Given the description of an element on the screen output the (x, y) to click on. 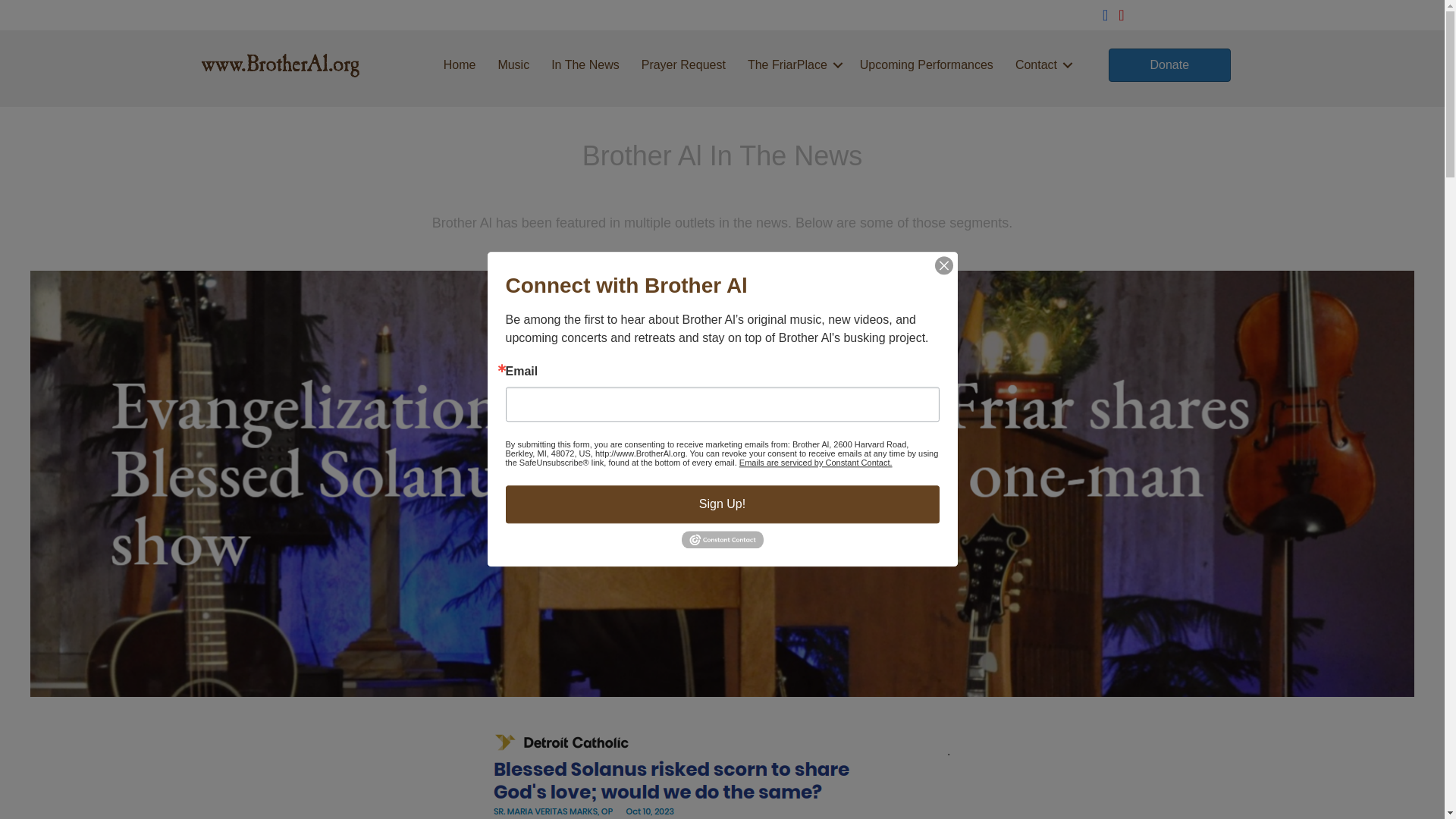
Contact (1041, 64)
Home (459, 64)
Donate (1169, 64)
Music (513, 64)
The FriarPlace (792, 64)
In The News (585, 64)
Emails are serviced by Constant Contact. (815, 461)
brother al articel 11.8.23 (721, 773)
Prayer Request (683, 64)
Close (943, 265)
brother al logo (292, 64)
Sign Up! (722, 504)
Upcoming Performances (926, 64)
